Given the description of an element on the screen output the (x, y) to click on. 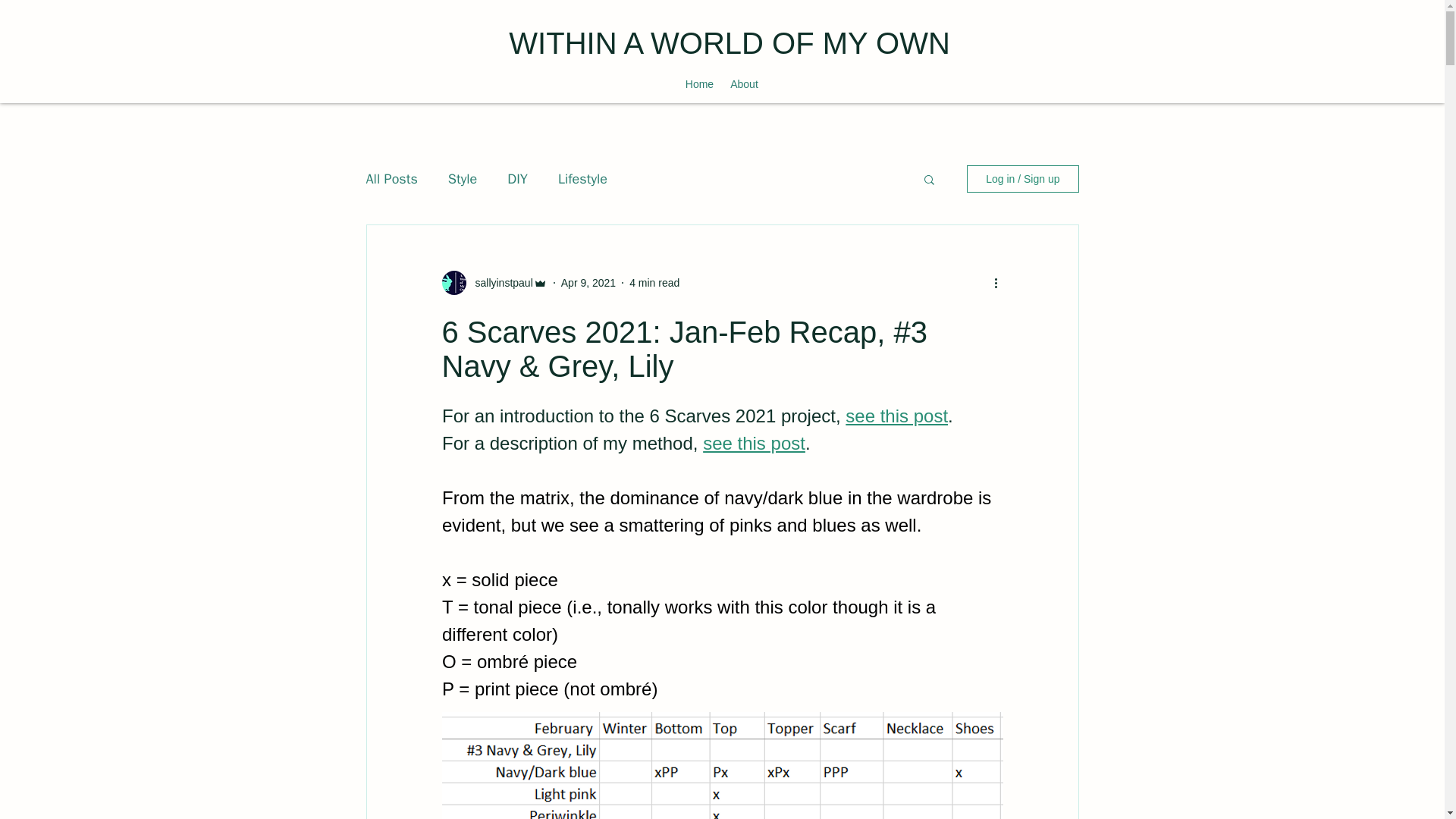
see this post (896, 415)
sallyinstpaul (498, 282)
4 min read (653, 282)
Style (462, 178)
About (743, 84)
DIY (516, 178)
Apr 9, 2021 (587, 282)
Home (698, 84)
WITHIN A WORLD OF MY OWN (728, 42)
All Posts (390, 178)
